Given the description of an element on the screen output the (x, y) to click on. 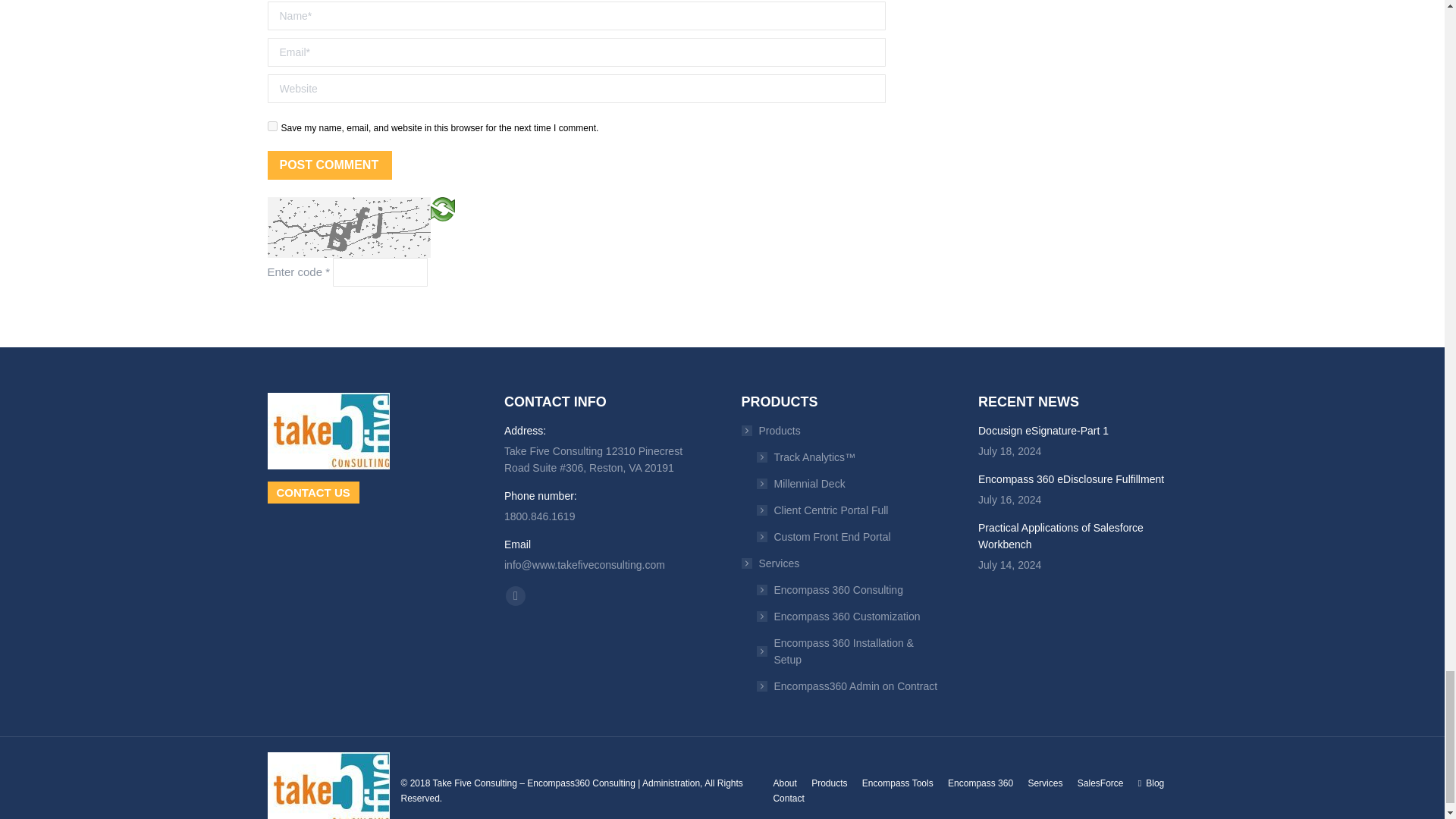
Refresh Image (442, 207)
yes (271, 126)
Linkedin page opens in new window (515, 596)
